Given the description of an element on the screen output the (x, y) to click on. 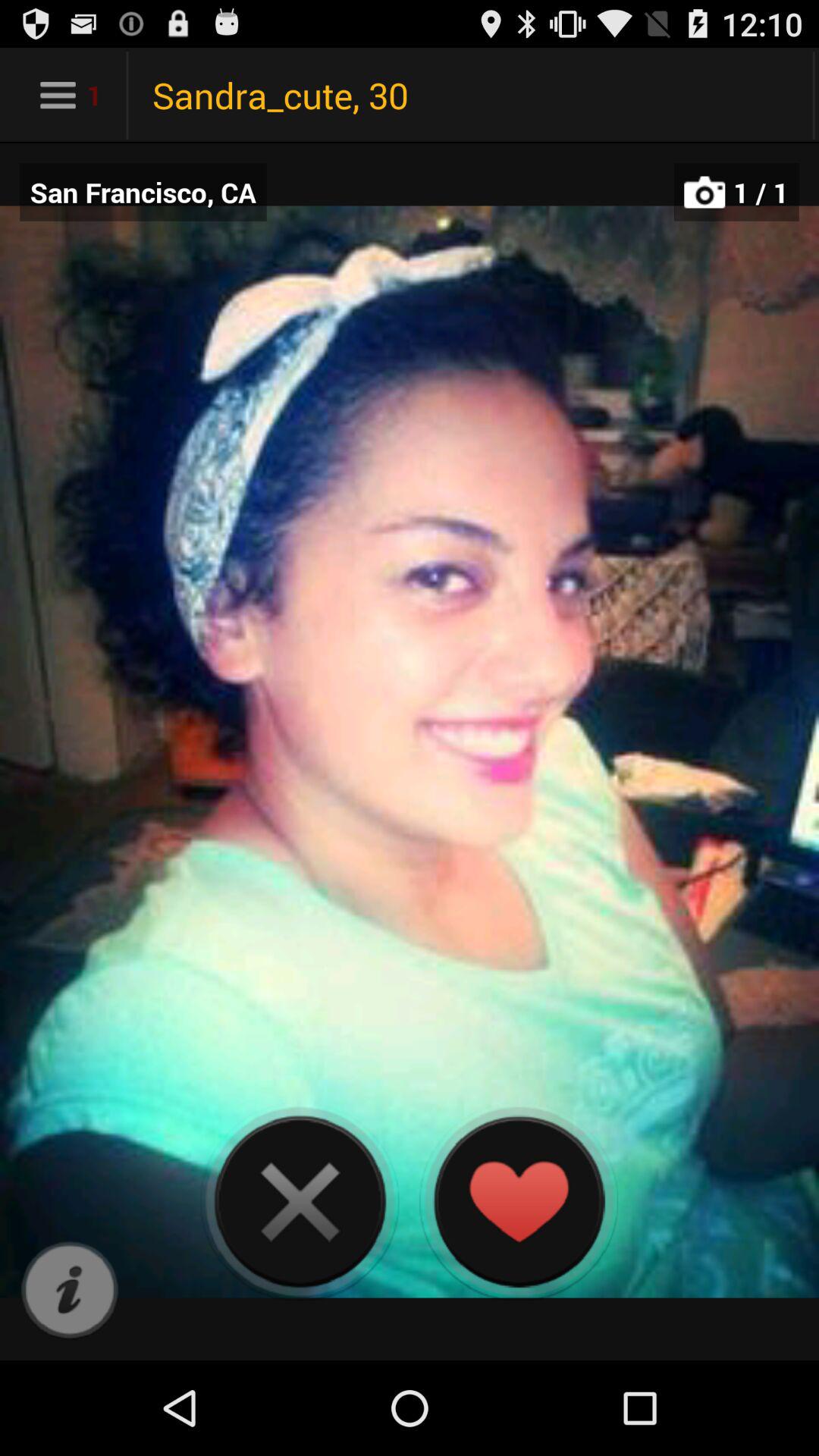
select cancel (299, 1200)
